Given the description of an element on the screen output the (x, y) to click on. 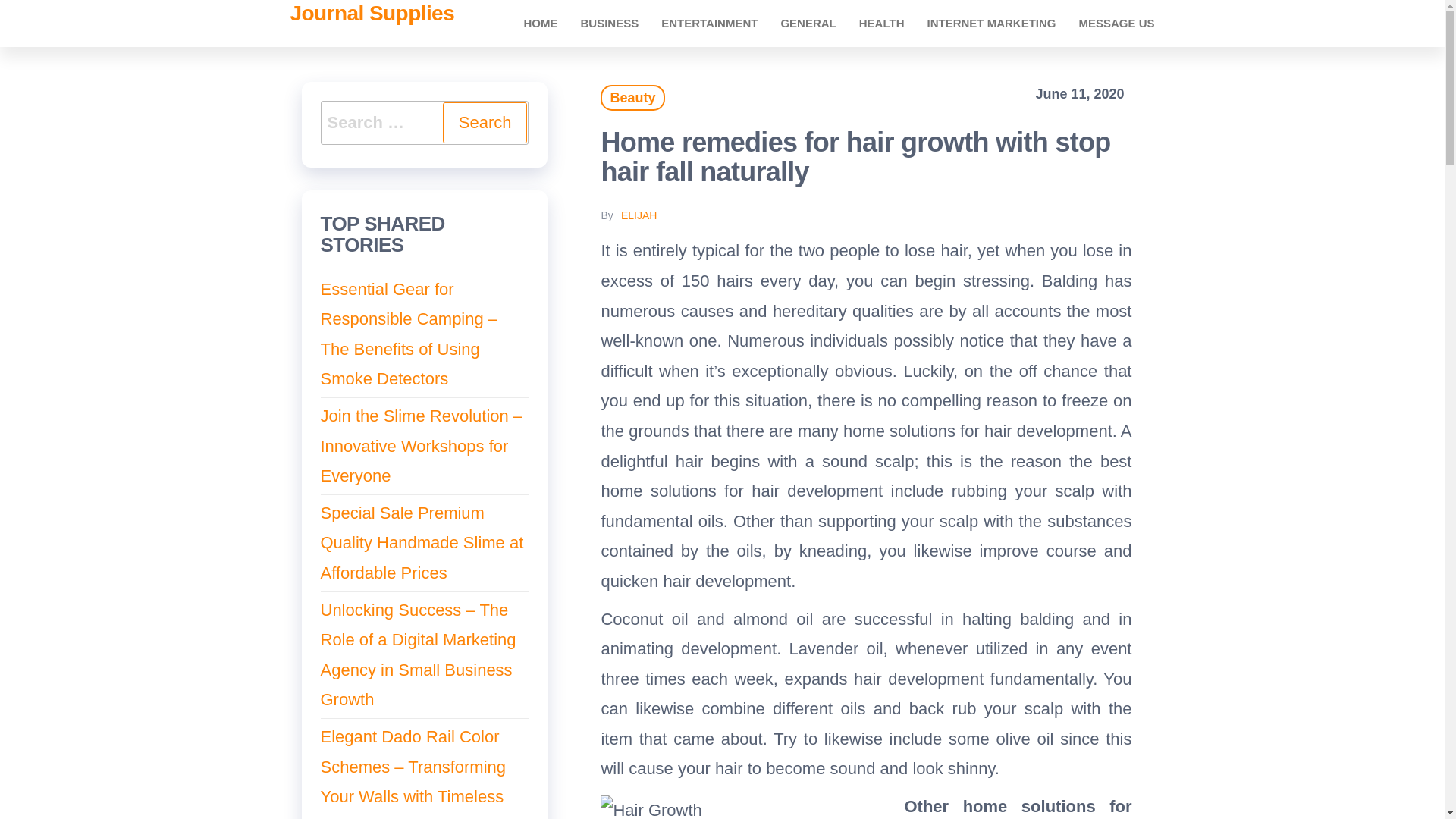
Internet Marketing (991, 22)
Journal Supplies (371, 13)
BUSINESS (609, 22)
Search (484, 122)
MESSAGE US (1116, 22)
ELIJAH (638, 215)
General (807, 22)
Business (609, 22)
ENTERTAINMENT (708, 22)
Home (540, 22)
HOME (540, 22)
Health (881, 22)
HEALTH (881, 22)
GENERAL (807, 22)
